Given the description of an element on the screen output the (x, y) to click on. 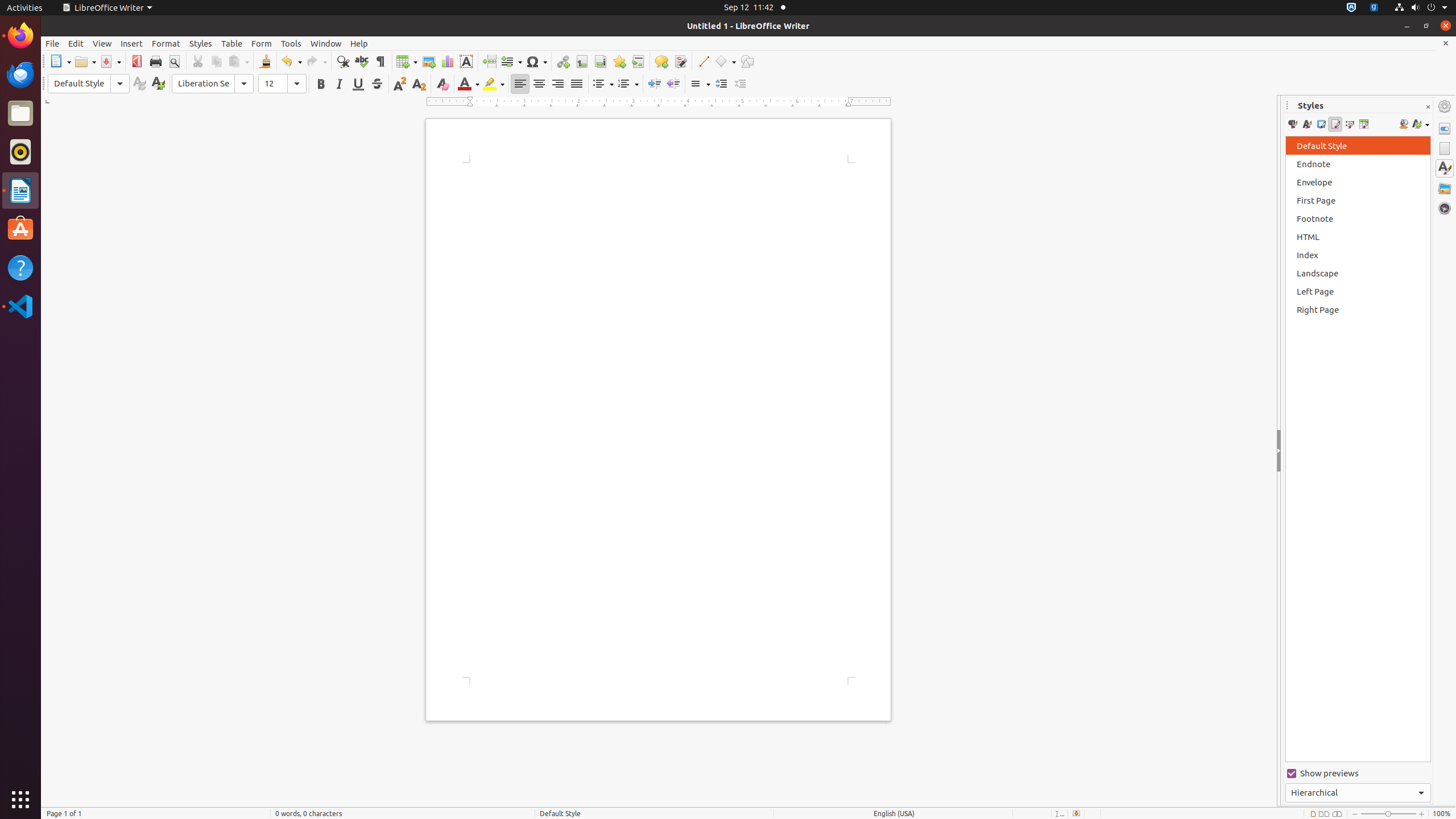
Line Element type: toggle-button (702, 61)
Show Applications Element type: toggle-button (20, 799)
Paste Element type: push-button (237, 61)
New Element type: push-button (157, 83)
Tools Element type: menu (290, 43)
